Given the description of an element on the screen output the (x, y) to click on. 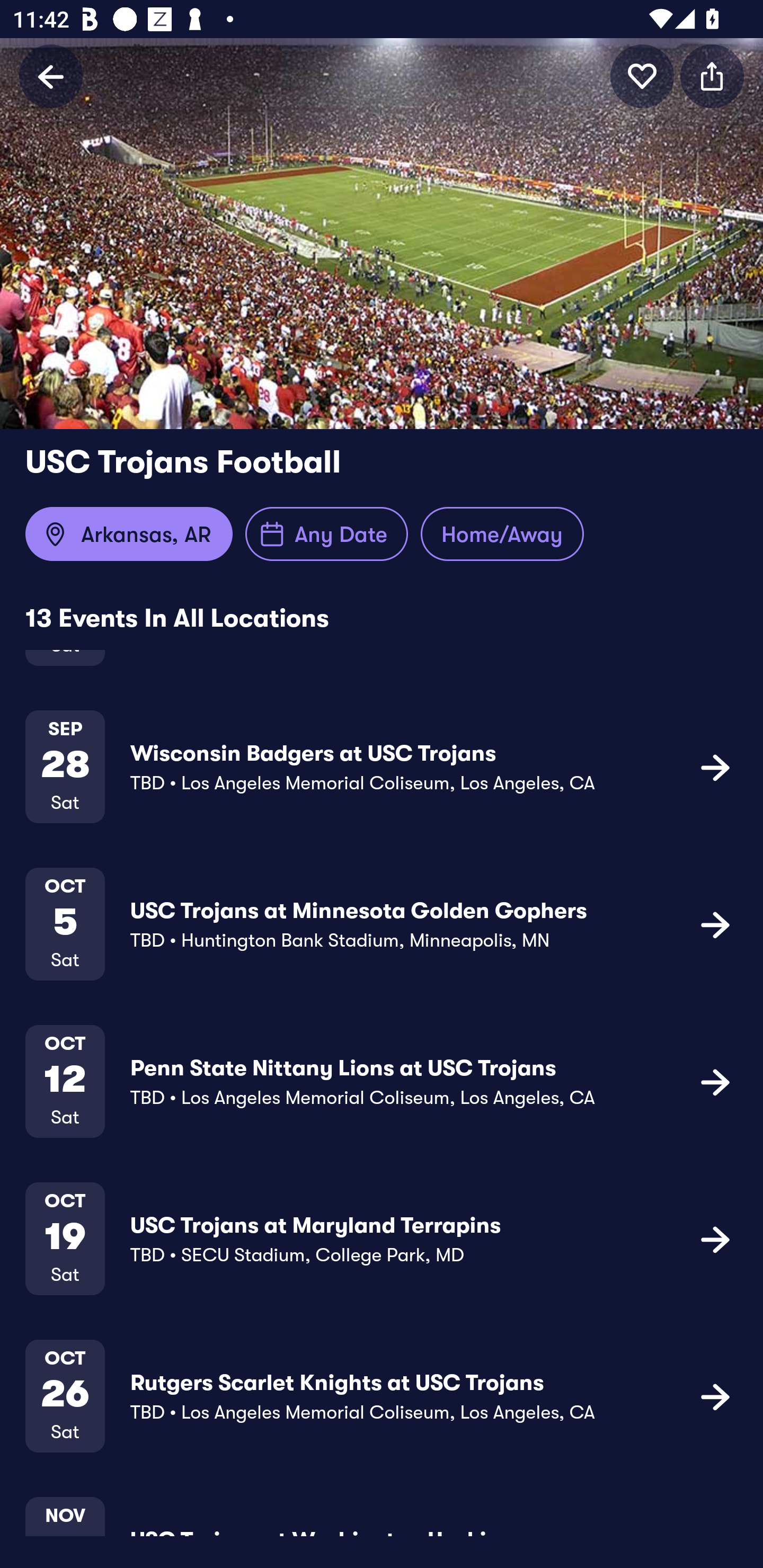
Back (50, 75)
icon button (641, 75)
icon button (711, 75)
Arkansas, AR (128, 533)
Any Date (326, 533)
Home/Away (501, 533)
icon button (714, 766)
icon button (714, 924)
icon button (714, 1081)
icon button (714, 1238)
icon button (714, 1396)
